Given the description of an element on the screen output the (x, y) to click on. 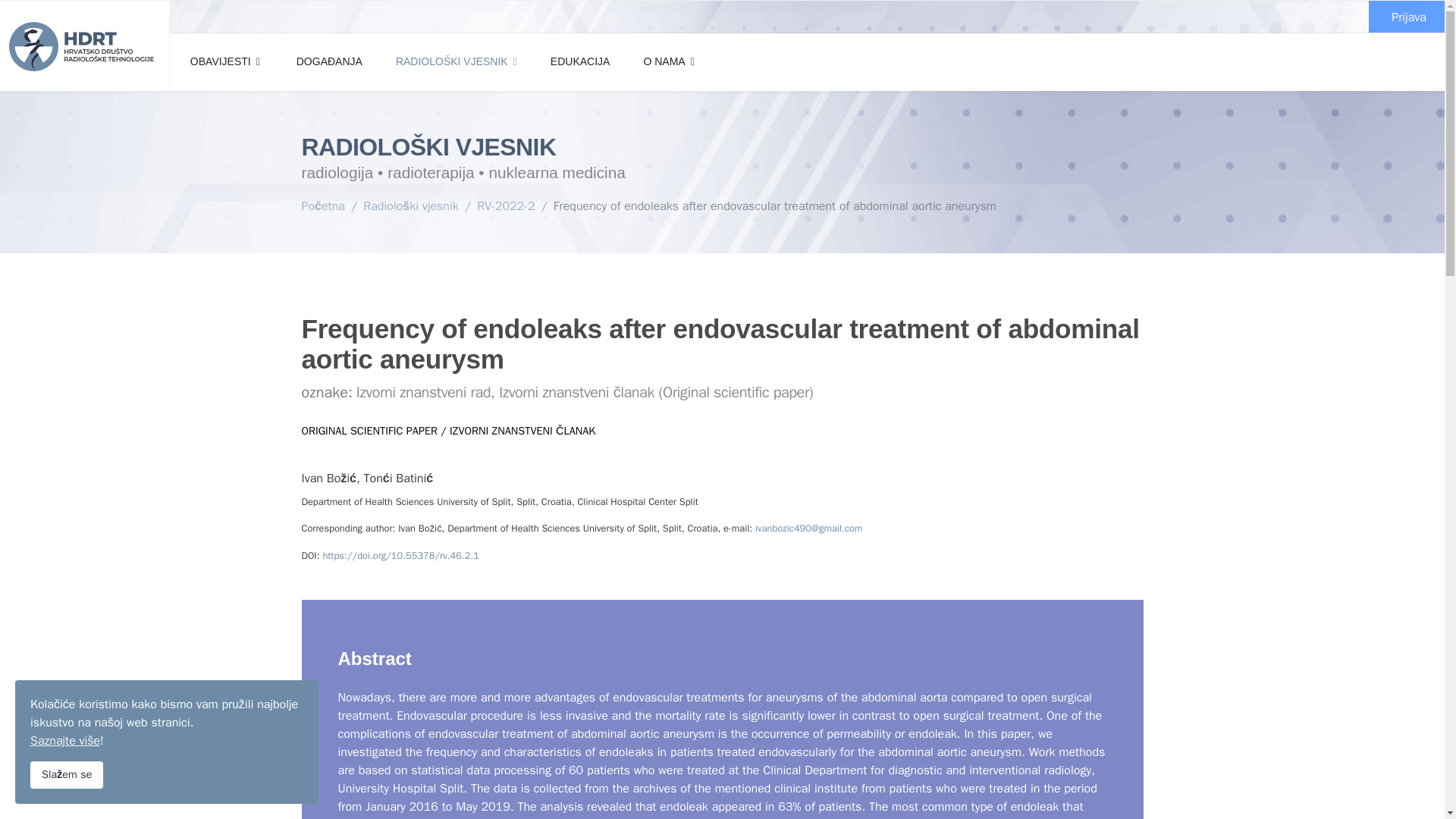
O NAMA (668, 61)
RV-2022-2 (505, 206)
OBAVIJESTI (224, 61)
EDUKACIJA (580, 61)
